Given the description of an element on the screen output the (x, y) to click on. 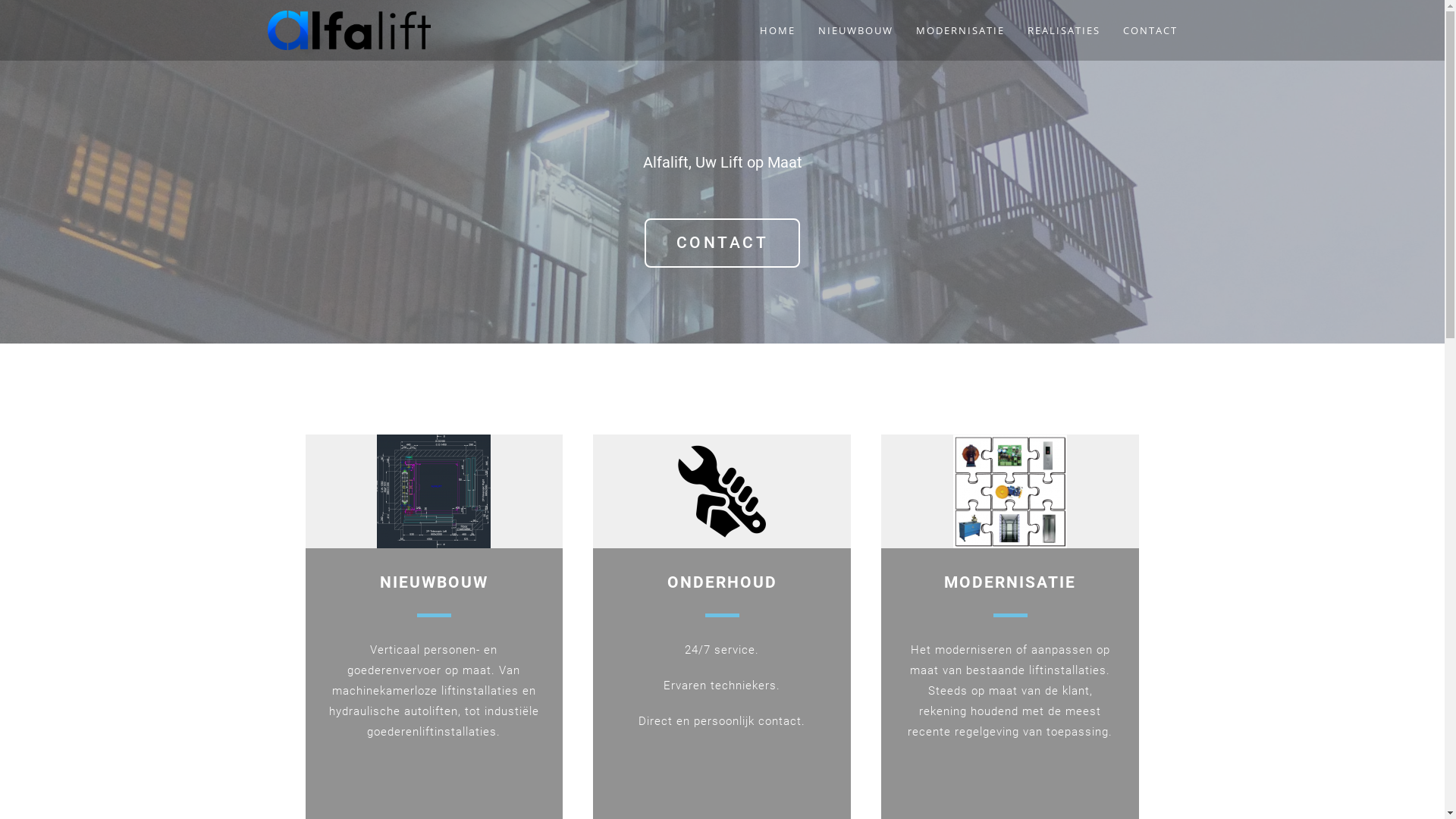
NIEUWBOUW Element type: text (855, 30)
REALISATIES Element type: text (1063, 30)
CONTACT Element type: text (722, 242)
CONTACT Element type: text (1150, 30)
NIEUWBOUW Element type: text (433, 582)
MODERNISATIE Element type: text (1010, 582)
ONDERHOUD Element type: text (722, 582)
MODERNISATIE Element type: text (959, 30)
HOME Element type: text (776, 30)
